Given the description of an element on the screen output the (x, y) to click on. 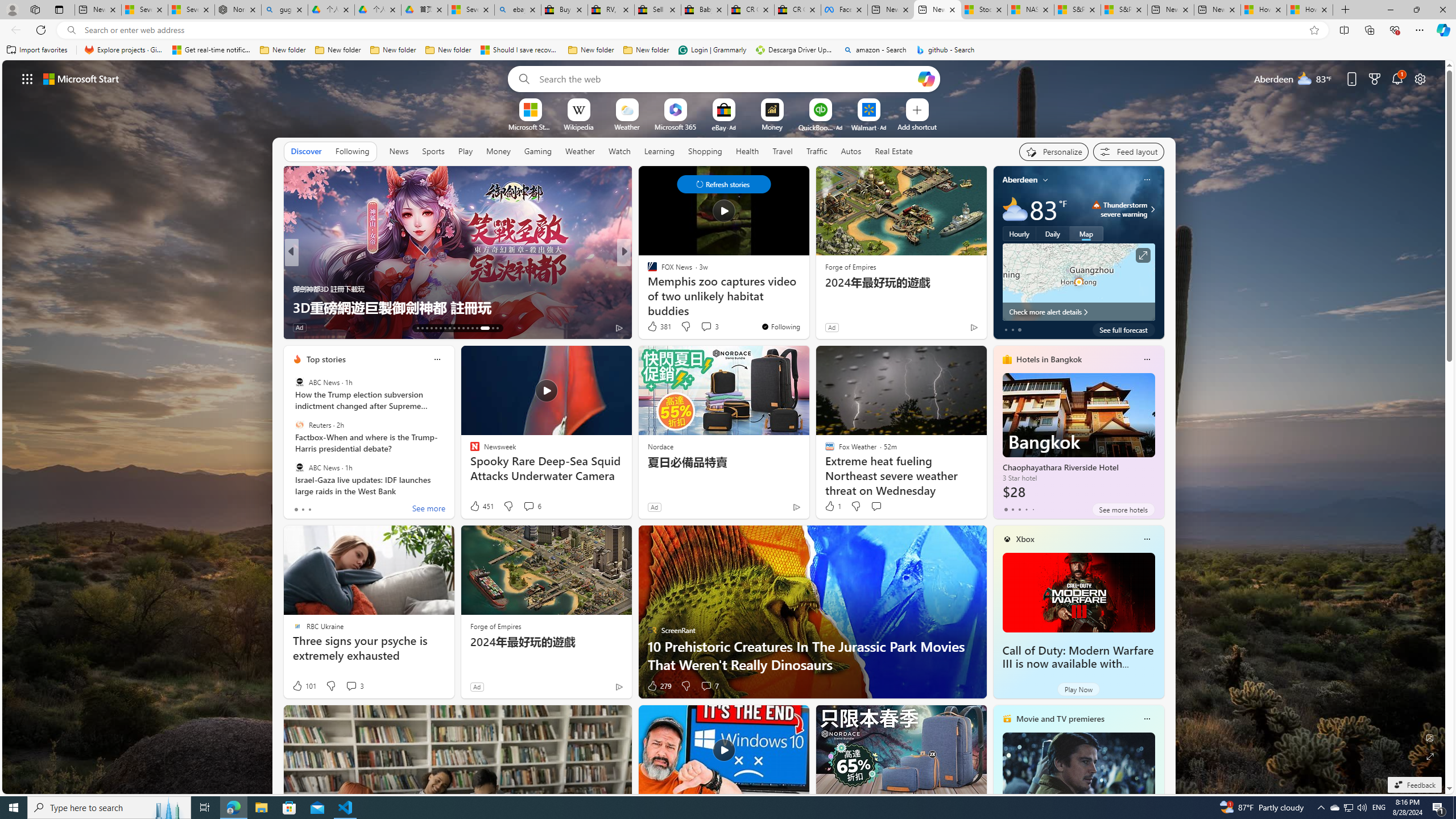
Dislike (685, 685)
Login | Grammarly (712, 49)
Shopping (705, 151)
Feed settings (1128, 151)
View comments 6 Comment (528, 505)
Watch (619, 151)
View comments 23 Comment (6, 327)
Chaophayathara Riverside Hotel (1077, 436)
Microsoft start (81, 78)
Shopping (705, 151)
AutomationID: waffle (27, 78)
